Given the description of an element on the screen output the (x, y) to click on. 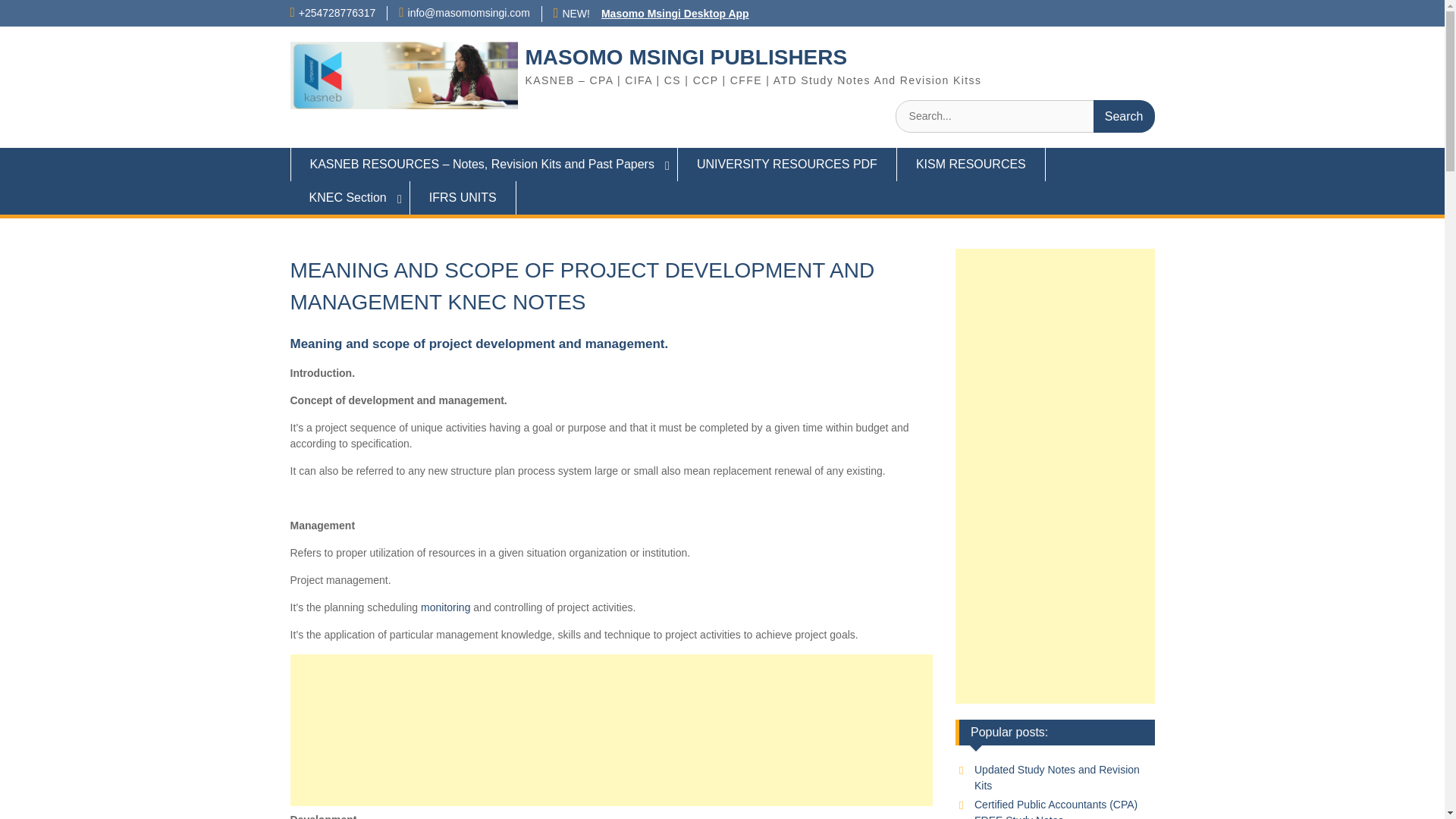
Search for: (1024, 115)
MASOMO MSINGI PUBLISHERS (685, 56)
Search (1123, 115)
monitoring (445, 606)
KISM RESOURCES (970, 164)
KNEC Section (349, 197)
IFRS UNITS (463, 197)
Updated Study Notes and Revision Kits (1057, 777)
Search (1123, 115)
Search (1123, 115)
UNIVERSITY RESOURCES PDF (787, 164)
Masomo Msingi Desktop App (675, 13)
